Given the description of an element on the screen output the (x, y) to click on. 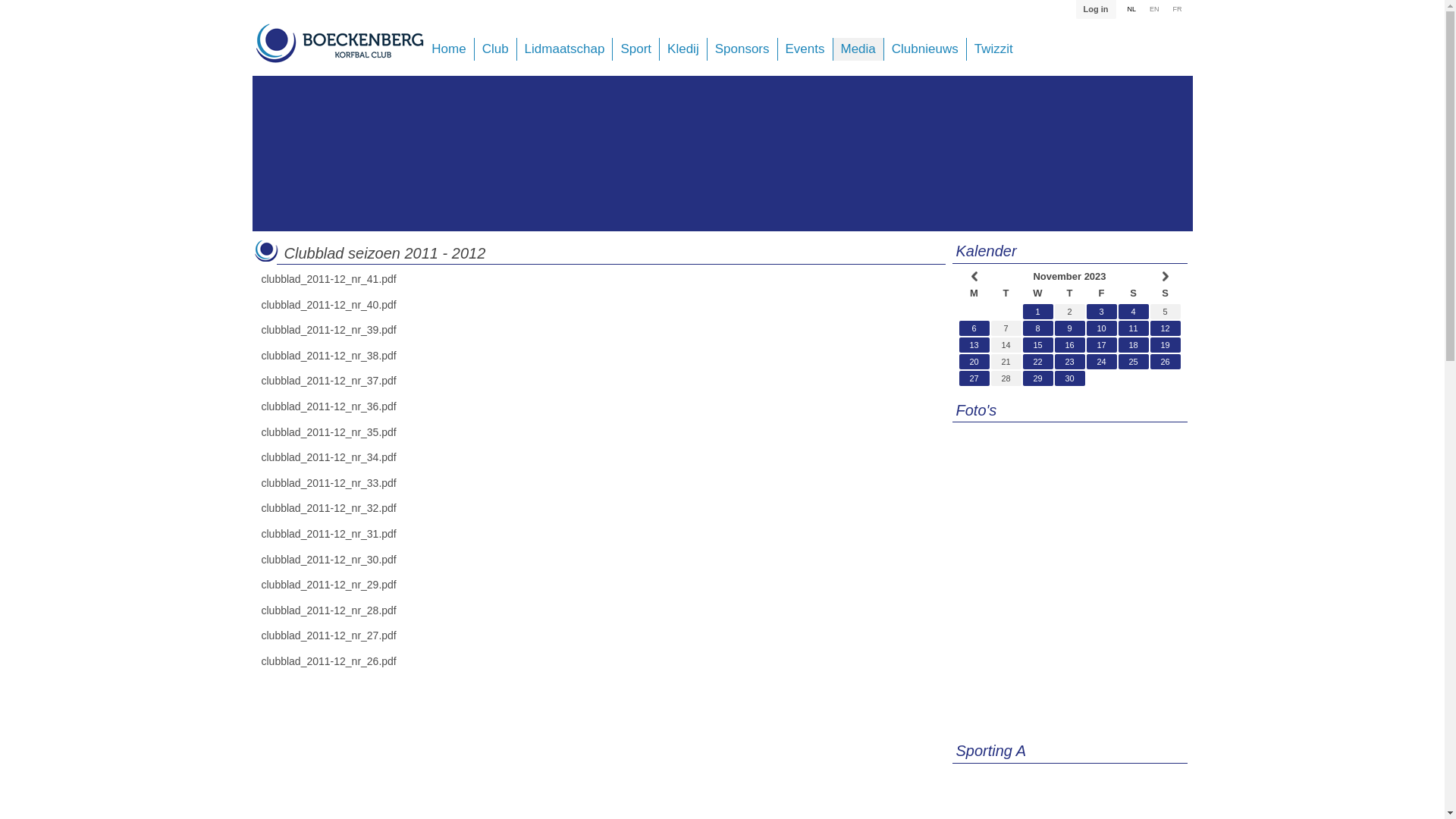
22 Element type: text (1037, 361)
1 Element type: text (1037, 310)
19 Element type: text (1164, 344)
12 Element type: text (1164, 327)
27 Element type: text (973, 377)
6 Element type: text (973, 327)
24 Element type: text (1100, 361)
clubblad_2011-12_nr_36.pdf Element type: text (327, 406)
  Element type: text (1164, 275)
EN Element type: text (1154, 9)
11 Element type: text (1132, 327)
26 Element type: text (1164, 361)
3 Element type: text (1100, 310)
18 Element type: text (1132, 344)
FR Element type: text (1177, 9)
Home Element type: text (448, 48)
23 Element type: text (1069, 361)
clubblad_2011-12_nr_38.pdf Element type: text (327, 355)
Clubblad seizoen 2011 - 2012 Element type: text (384, 252)
clubblad_2011-12_nr_28.pdf Element type: text (327, 610)
lubblad_2011-12_nr_41.pdf Element type: text (331, 279)
clubblad_2011-12_nr_30.pdf Element type: text (327, 559)
clubblad_2011-12_nr_33.pdf Element type: text (327, 482)
clubblad_2011-12_nr_27.pdf Element type: text (327, 635)
clubblad_2011-12_nr_26.pdf Element type: text (327, 661)
  Element type: text (973, 275)
30 Element type: text (1069, 377)
8 Element type: text (1037, 327)
20 Element type: text (973, 361)
clubblad_2011-12_nr_32.pdf Element type: text (327, 508)
9 Element type: text (1069, 327)
clubblad_2011-12_nr_39.pdf Element type: text (327, 329)
4 Element type: text (1132, 310)
NL Element type: text (1131, 9)
clubblad_2011-12_nr_34.pdf Element type: text (327, 457)
16 Element type: text (1069, 344)
clubblad_2011-12_nr_35.pdf Element type: text (327, 432)
clubblad_2011-12_nr_37.pdf Element type: text (327, 380)
Twizzit Element type: text (993, 48)
29 Element type: text (1037, 377)
25 Element type: text (1132, 361)
10 Element type: text (1100, 327)
15 Element type: text (1037, 344)
17 Element type: text (1100, 344)
clubblad_2011-12_nr_40.pdf Element type: text (327, 304)
13 Element type: text (973, 344)
clubblad_2011-12_nr_29.pdf Element type: text (327, 584)
Log in Element type: text (1096, 9)
clubblad_2011-12_nr_31.pdf Element type: text (327, 533)
